Given the description of an element on the screen output the (x, y) to click on. 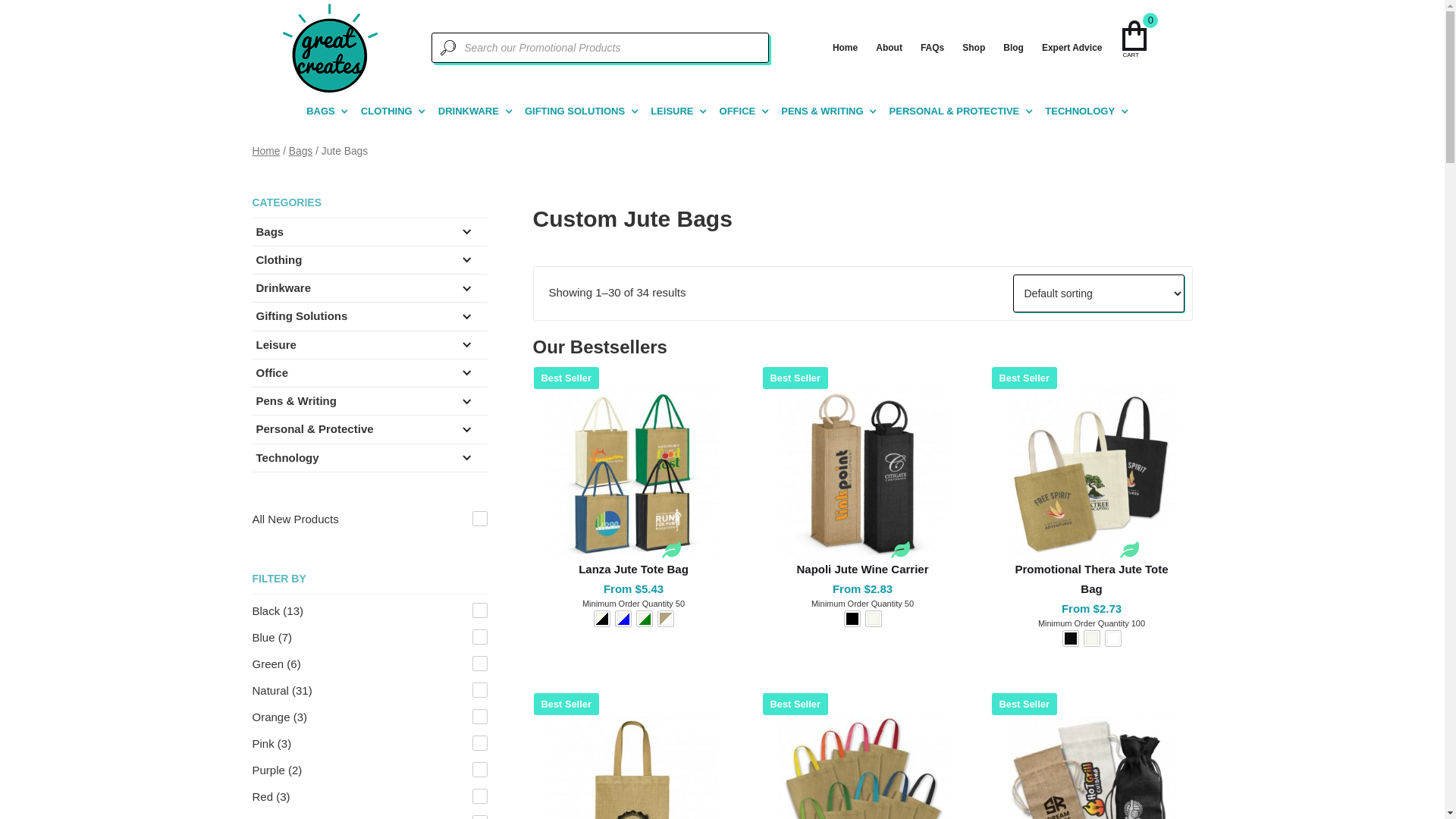
DRINKWARE Element type: text (468, 110)
FAQs Element type: text (932, 47)
Leisure Element type: text (287, 344)
Drinkware Element type: text (295, 287)
Blue (7) Element type: text (368, 637)
Office Element type: text (283, 372)
Technology Element type: text (299, 457)
Pens & Writing Element type: text (307, 400)
TECHNOLOGY Element type: text (1079, 110)
Personal & Protective Element type: text (326, 428)
OFFICE Element type: text (737, 110)
Shop Element type: text (973, 47)
Clothing Element type: text (290, 259)
Black (13) Element type: text (368, 611)
Blog Element type: text (1013, 47)
About Element type: text (888, 47)
Napoli Jute Wine Carrier Element type: text (862, 569)
Orange (3) Element type: text (368, 717)
Home Element type: text (844, 47)
Promotional Thera Jute Tote Bag Element type: text (1091, 579)
PERSONAL & PROTECTIVE Element type: text (954, 110)
Bags Element type: text (281, 231)
Lanza Jute Tote Bag Element type: text (633, 569)
CLOTHING Element type: text (386, 110)
Green (6) Element type: text (368, 664)
Pink (3) Element type: text (368, 743)
Red (3) Element type: text (368, 796)
GIFTING SOLUTIONS Element type: text (574, 110)
Home Element type: text (265, 150)
PENS & WRITING Element type: text (821, 110)
Gifting Solutions Element type: text (313, 315)
Purple (2) Element type: text (368, 770)
BAGS Element type: text (320, 110)
LEISURE Element type: text (671, 110)
Bags Element type: text (300, 150)
All New Products Element type: text (368, 519)
Expert Advice Element type: text (1071, 47)
Natural (31) Element type: text (368, 690)
CART
0 Element type: text (1141, 39)
